Given the description of an element on the screen output the (x, y) to click on. 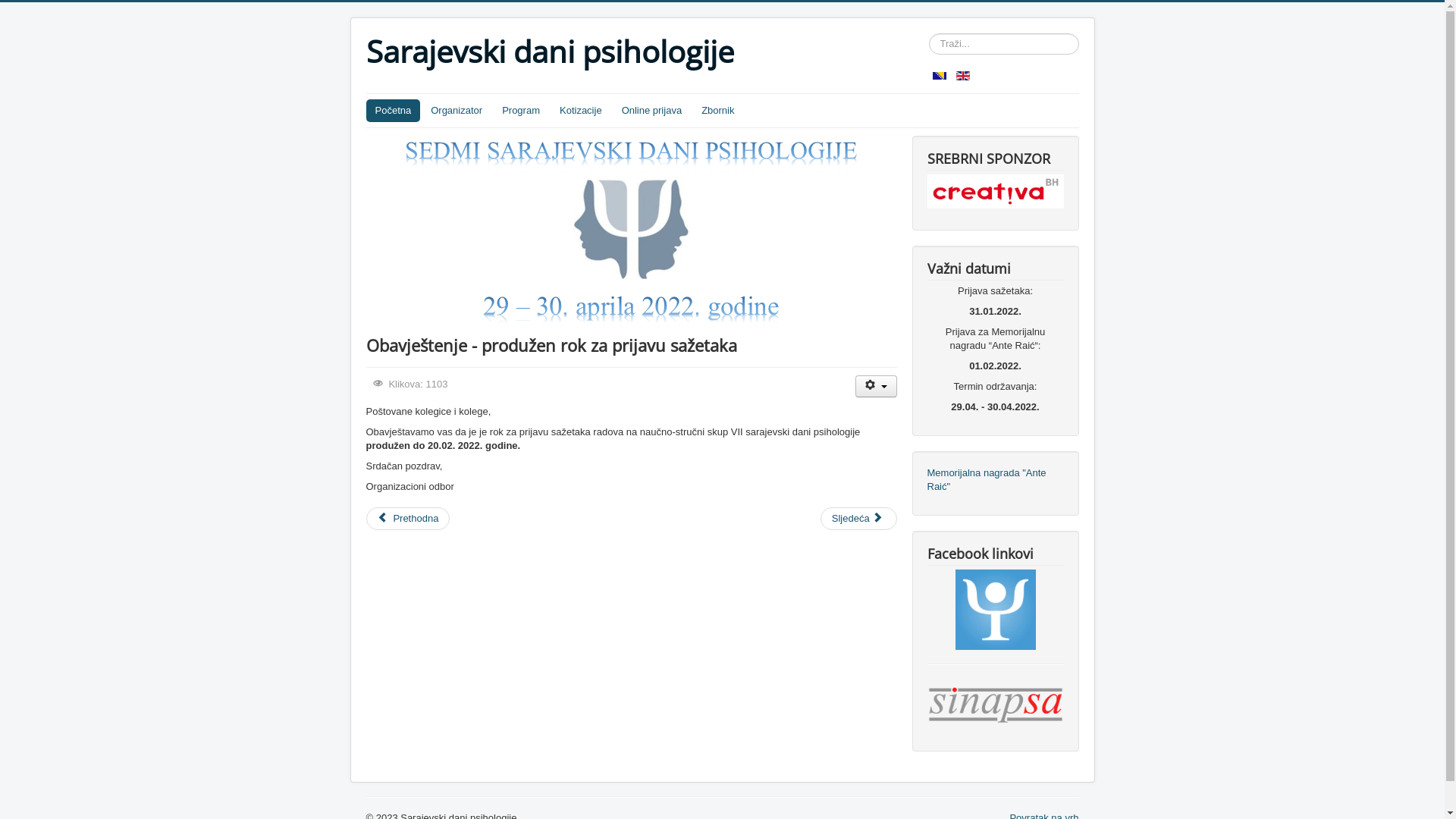
Program Element type: text (520, 110)
Organizator Element type: text (456, 110)
Zbornik Element type: text (717, 110)
Kotizacije Element type: text (580, 110)
English (United Kingdom) Element type: hover (962, 75)
Online prijava Element type: text (651, 110)
Bosanski (Bosnia and Herzegovina) Element type: hover (939, 75)
CREATIVA Element type: hover (994, 190)
Prethodna Element type: text (407, 518)
Sarajevski dani psihologije Element type: text (549, 51)
